Given the description of an element on the screen output the (x, y) to click on. 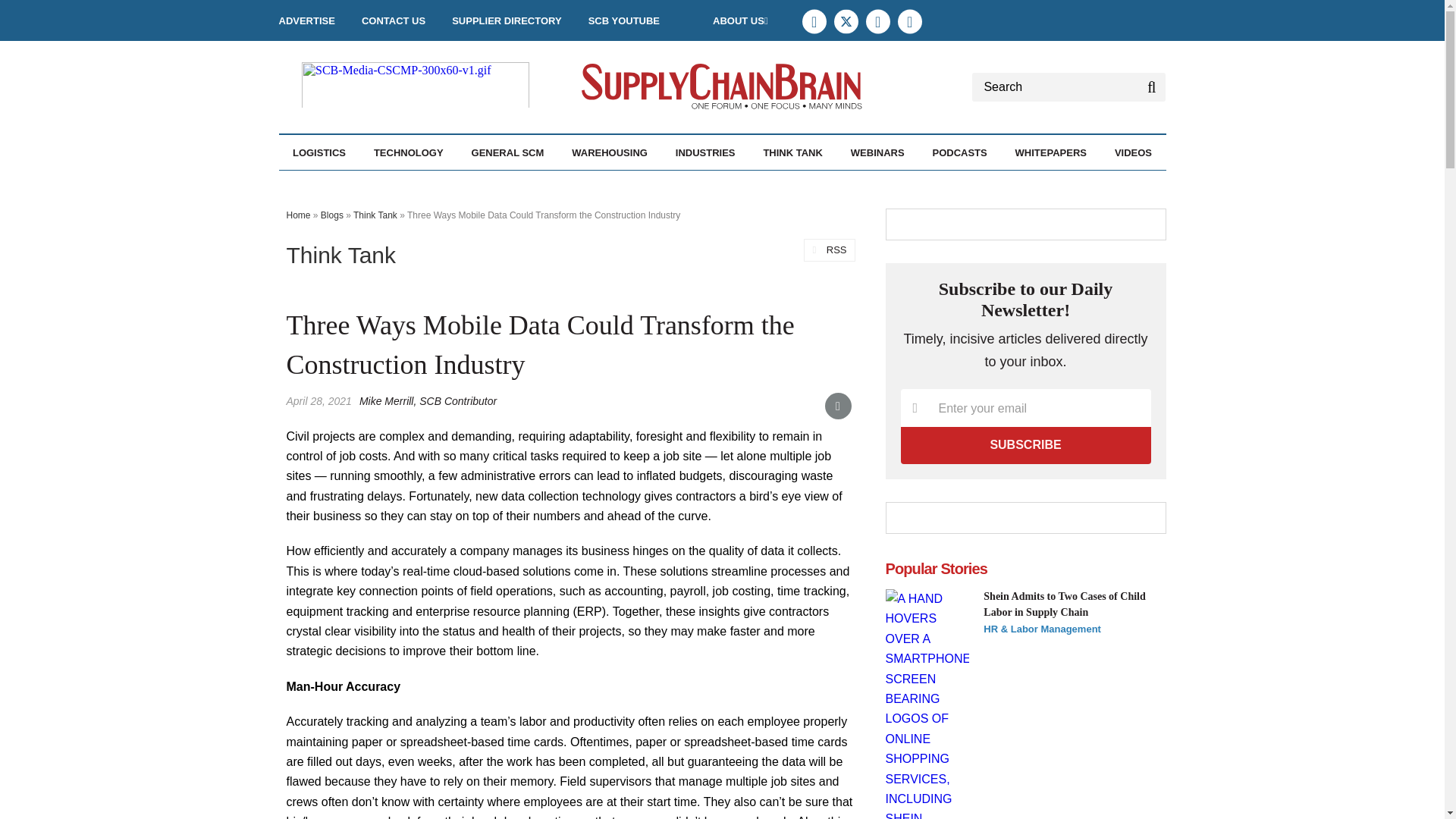
TECHNOLOGY (409, 152)
Global Gateways (395, 184)
CONTACT US (393, 20)
SCB YOUTUBE (623, 20)
Global Logistics (398, 184)
All Technology (449, 184)
Facility Location Planning (381, 193)
Reverse Logistics (411, 184)
Last Mile Delivery (401, 184)
LOGISTICS (319, 152)
